Given the description of an element on the screen output the (x, y) to click on. 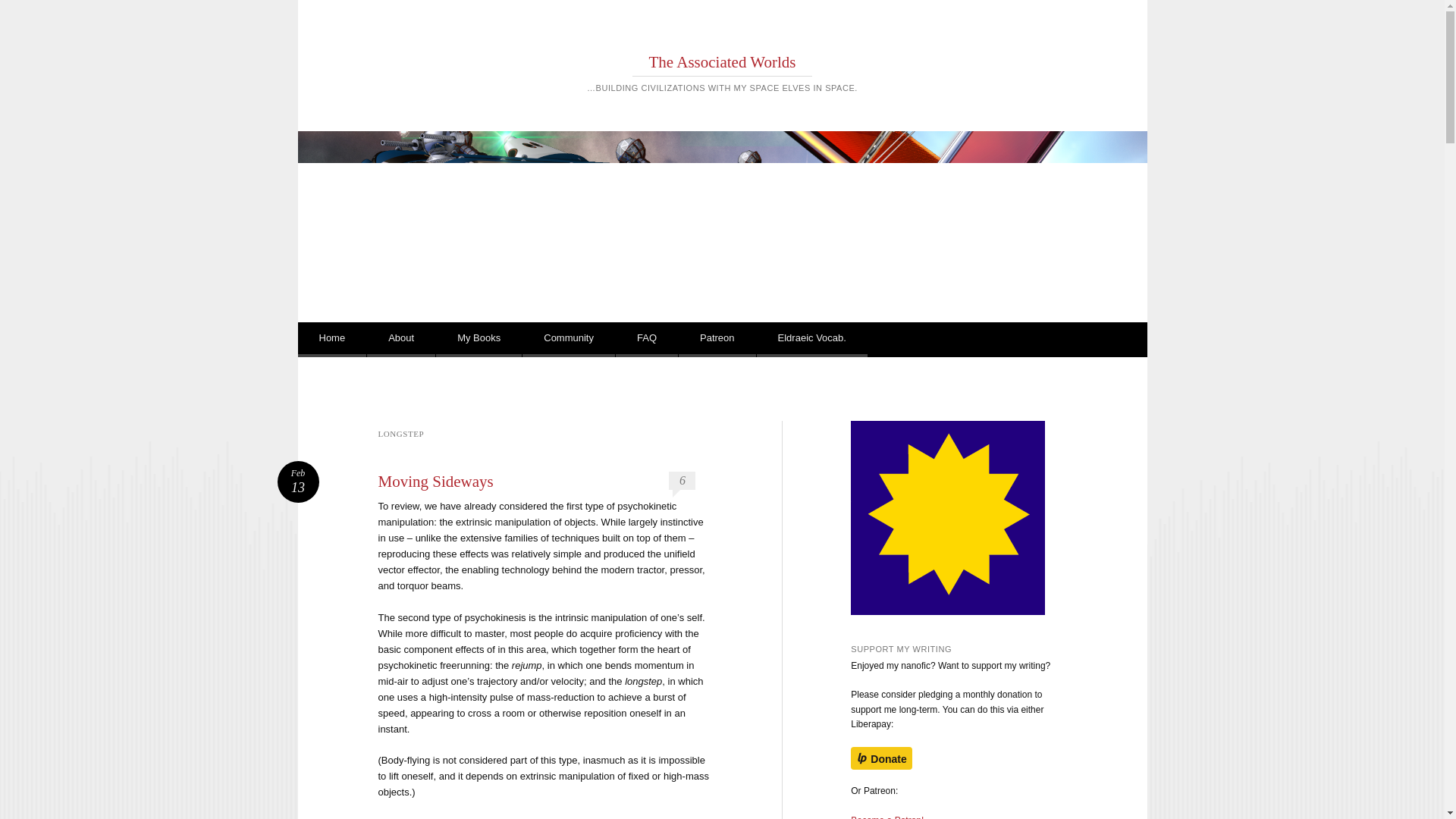
Home (331, 339)
The Associated Worlds (722, 62)
Moving Sideways (435, 481)
My Books (478, 339)
Skip to content (350, 339)
Eldraeic Vocab. (812, 339)
Become a Patron! (886, 816)
About (400, 339)
Community (568, 339)
FAQ (646, 339)
